Given the description of an element on the screen output the (x, y) to click on. 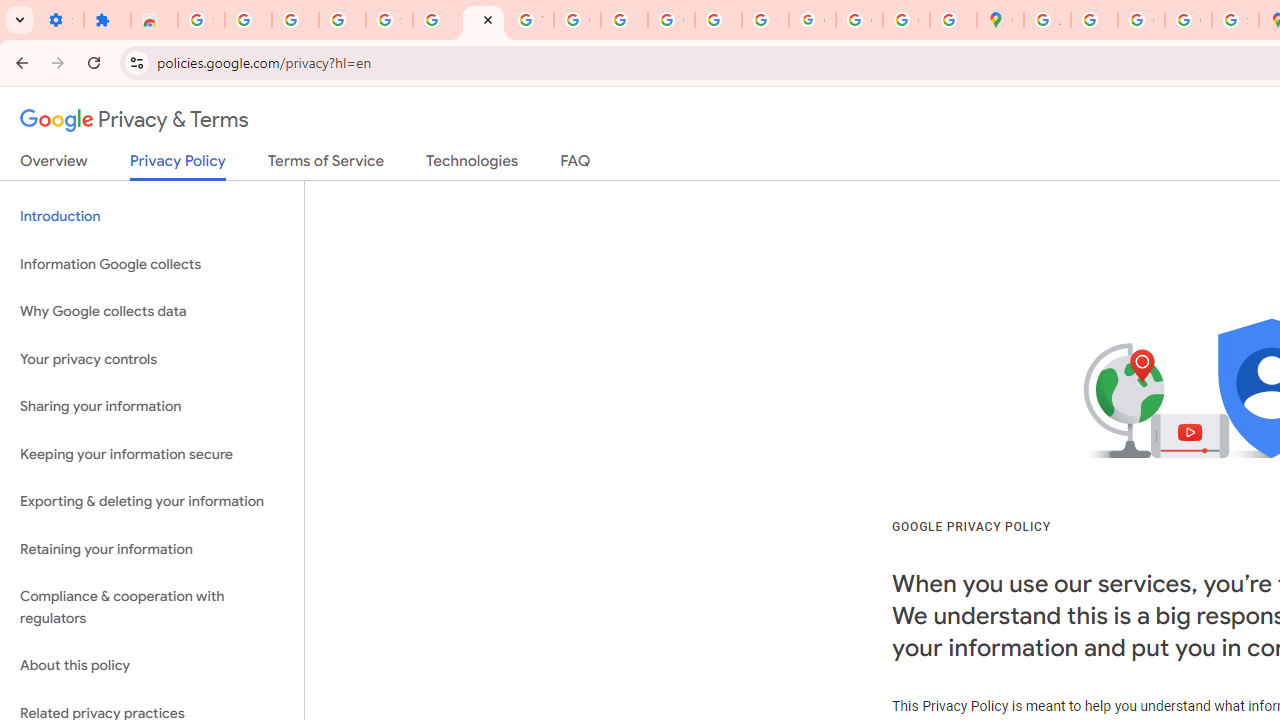
Reviews: Helix Fruit Jump Arcade Game (153, 20)
Sign in - Google Accounts (389, 20)
YouTube (530, 20)
https://scholar.google.com/ (623, 20)
